Given the description of an element on the screen output the (x, y) to click on. 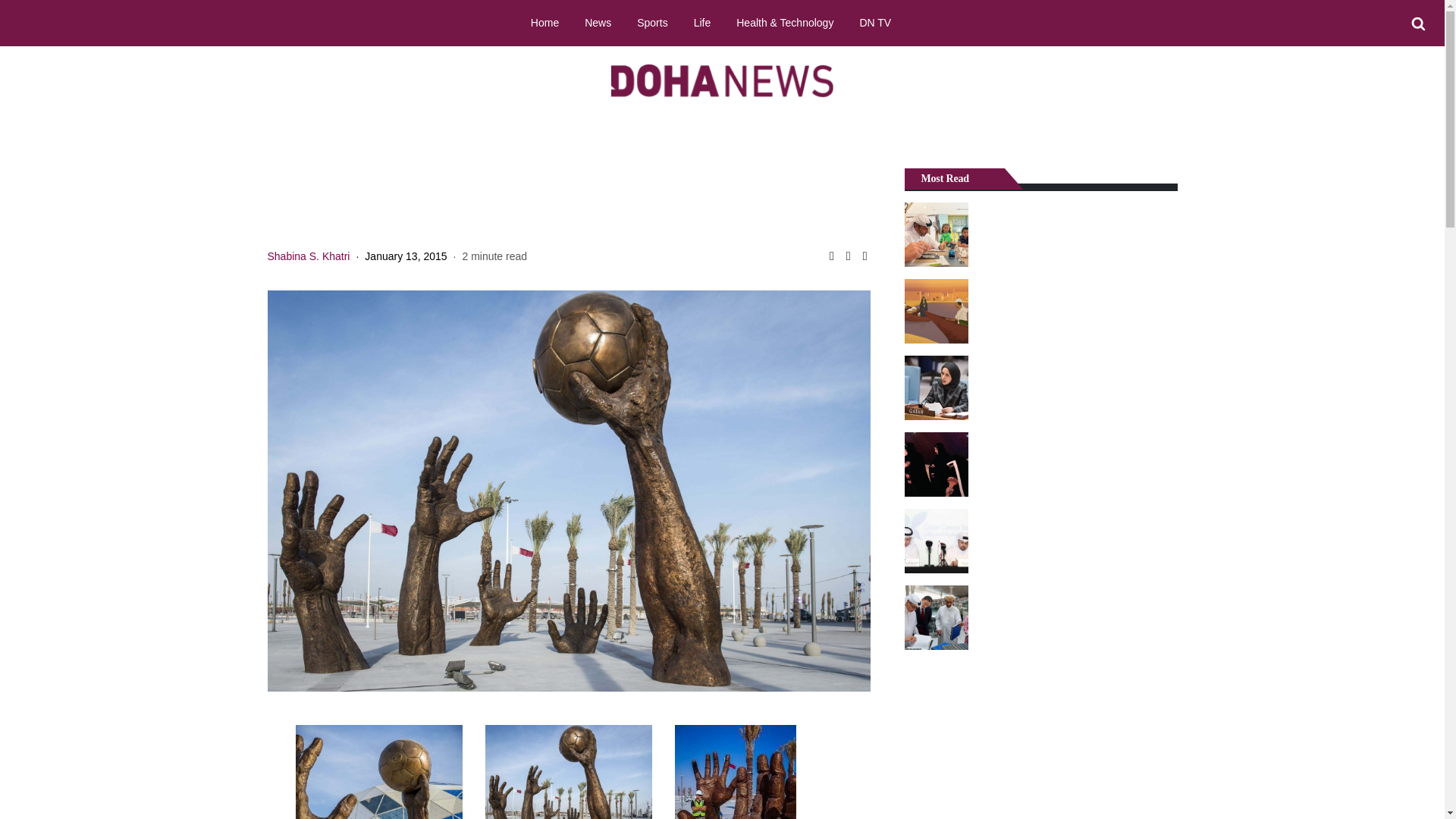
DN TV (875, 22)
Home (545, 22)
Search (1417, 23)
Life (702, 22)
Sports (651, 22)
January 13, 2015 (405, 256)
News (598, 22)
View all posts by Shabina S. Khatri (307, 256)
Shabina S. Khatri (307, 256)
